Given the description of an element on the screen output the (x, y) to click on. 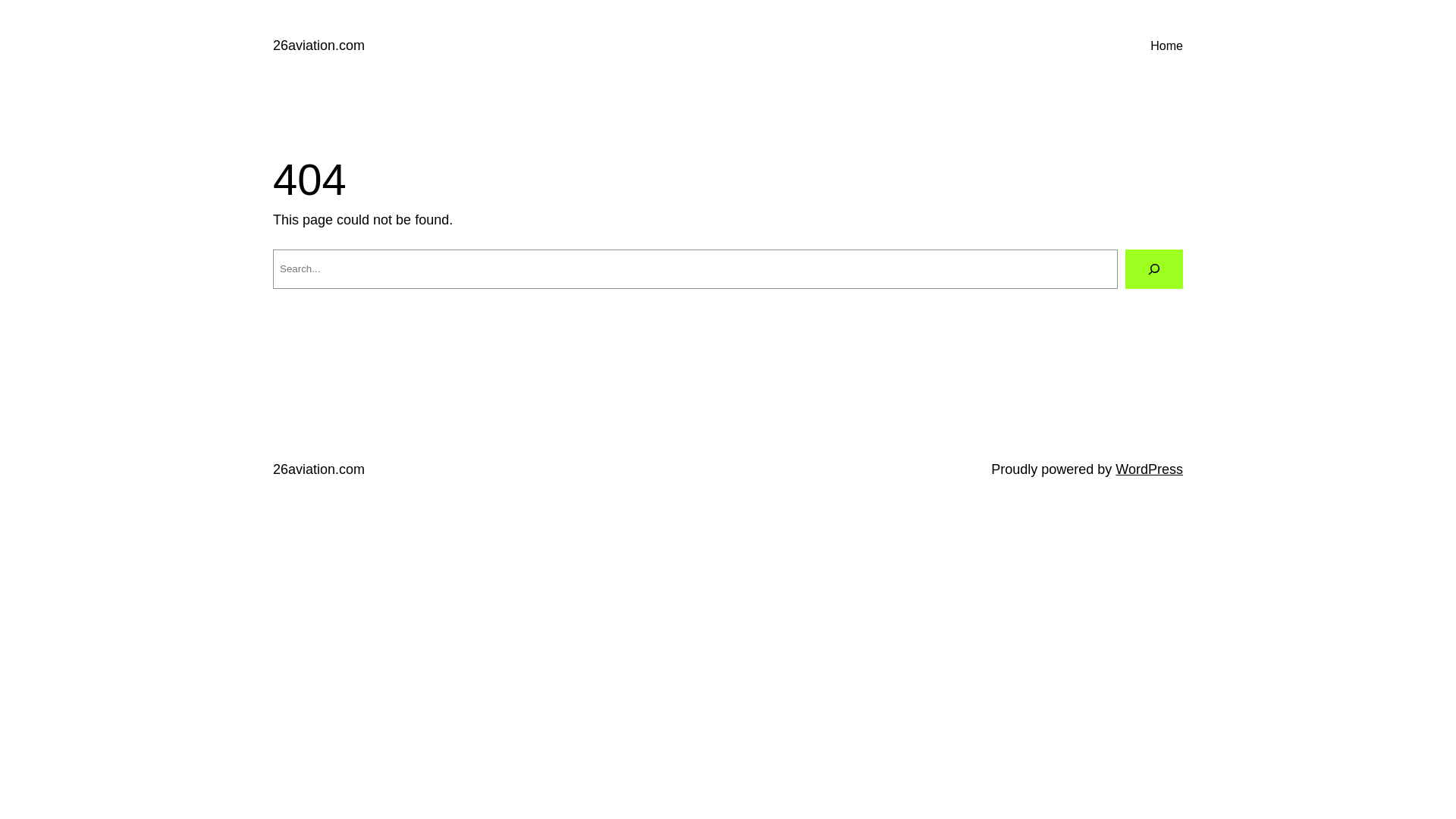
26aviation.com Element type: text (318, 45)
WordPress Element type: text (1149, 468)
26aviation.com Element type: text (318, 468)
Home Element type: text (1166, 46)
